Given the description of an element on the screen output the (x, y) to click on. 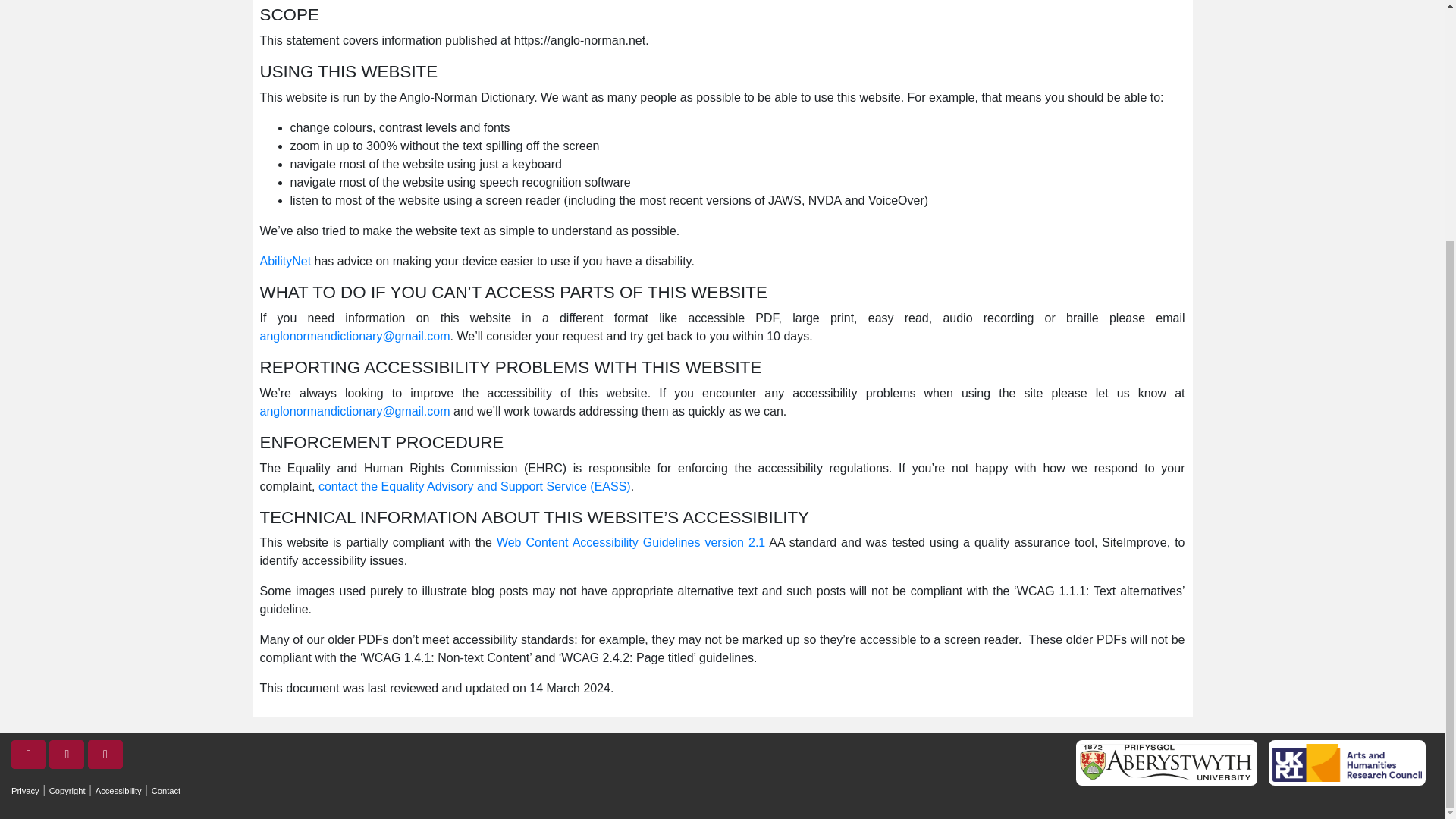
AbilityNet (285, 260)
Find us on Facebook (66, 754)
Follow us on Twitter (28, 754)
Web Content Accessibility Guidelines version 2.1 (630, 542)
Privacy (25, 790)
Copyright (67, 790)
Send us an Email (105, 754)
Contact (165, 790)
Accessibility (118, 790)
